Given the description of an element on the screen output the (x, y) to click on. 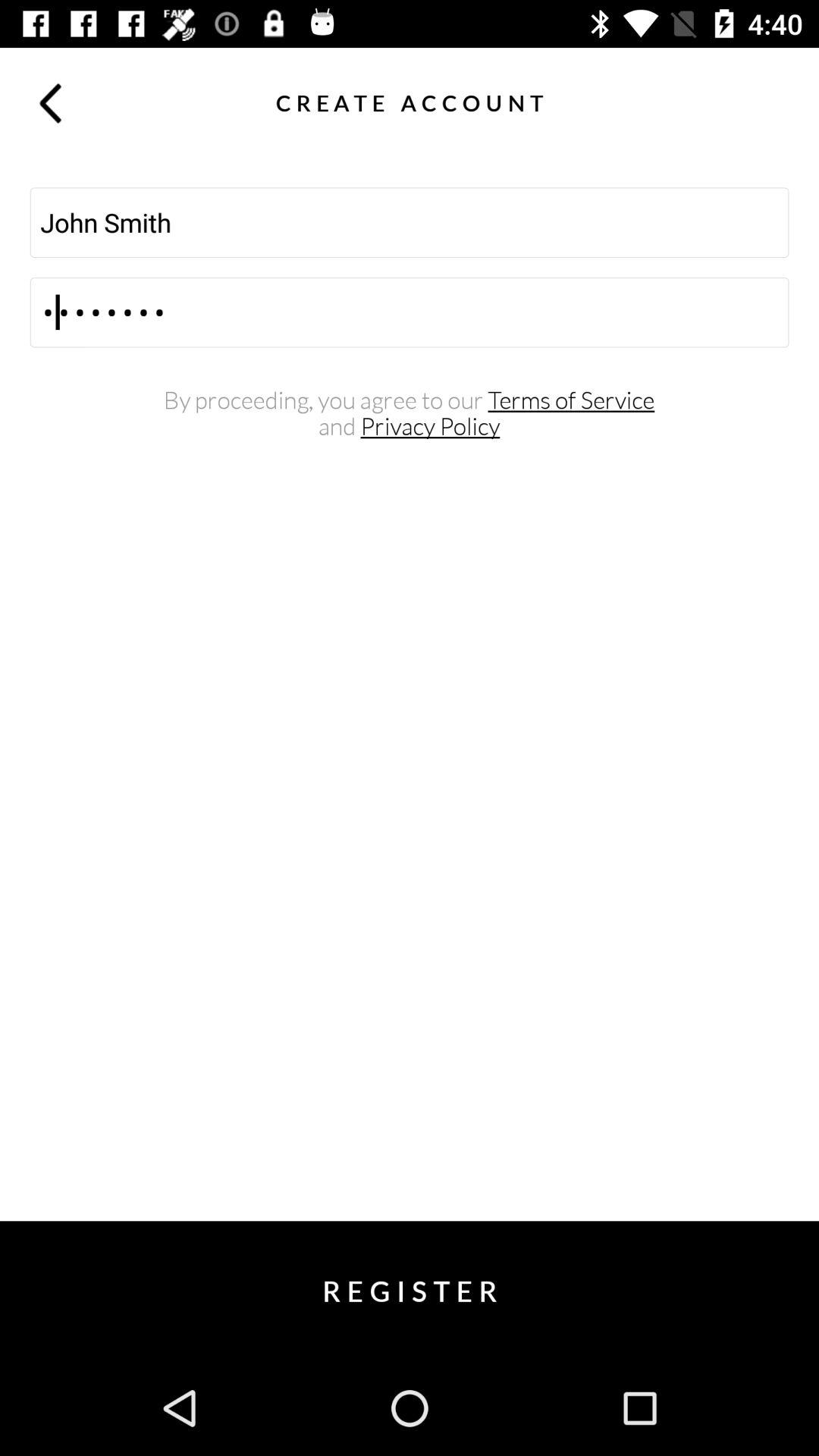
scroll until crod3116 item (409, 312)
